Given the description of an element on the screen output the (x, y) to click on. 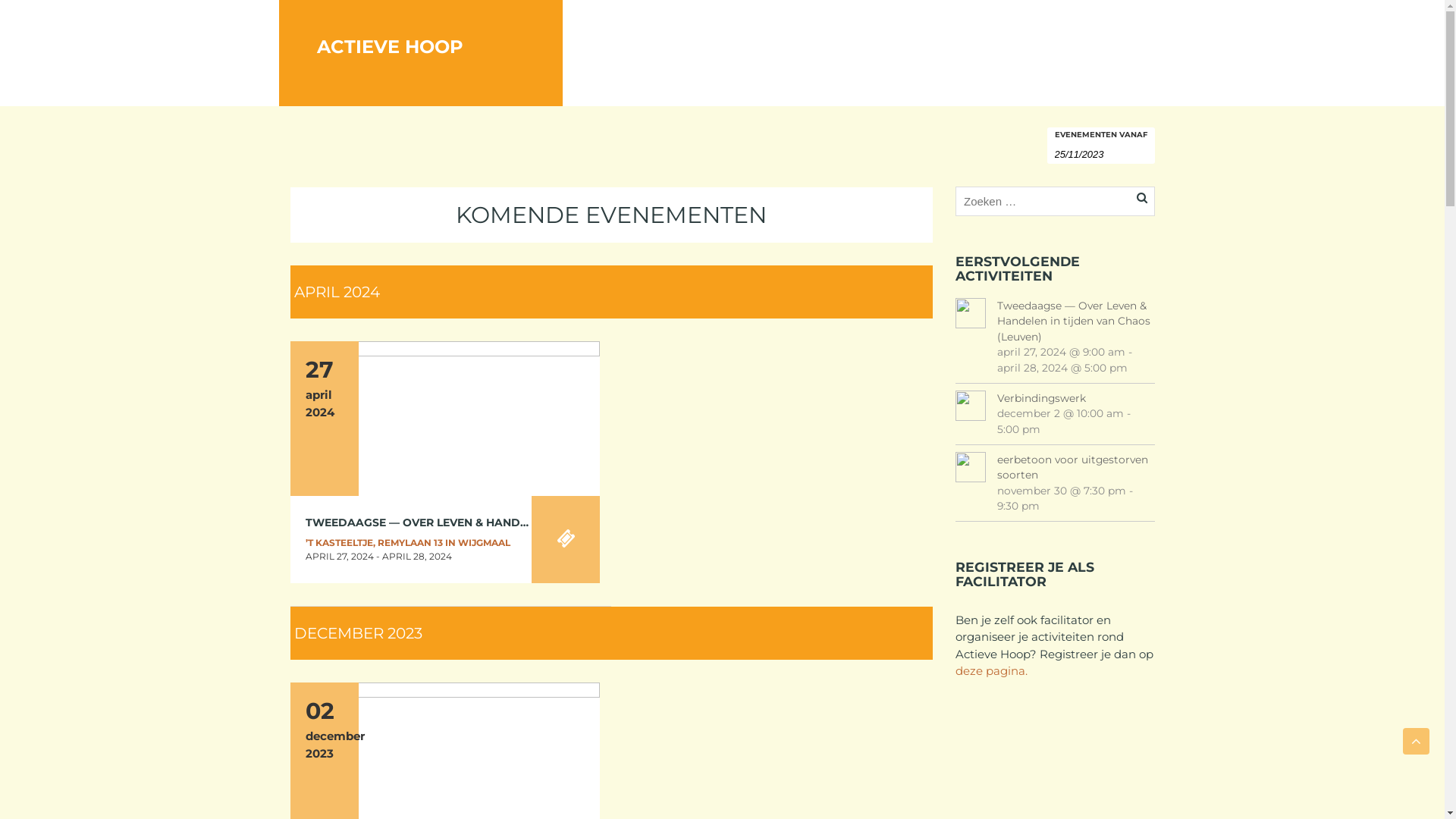
eerbetoon voor uitgestorven soorten Element type: text (1075, 467)
ACTIEVE HOOP Element type: text (421, 28)
Zoeken Element type: text (25, 8)
Verbindingswerk Element type: text (1075, 398)
deze pagina.  Element type: text (992, 670)
Verbindingswerk Element type: hover (444, 758)
